Given the description of an element on the screen output the (x, y) to click on. 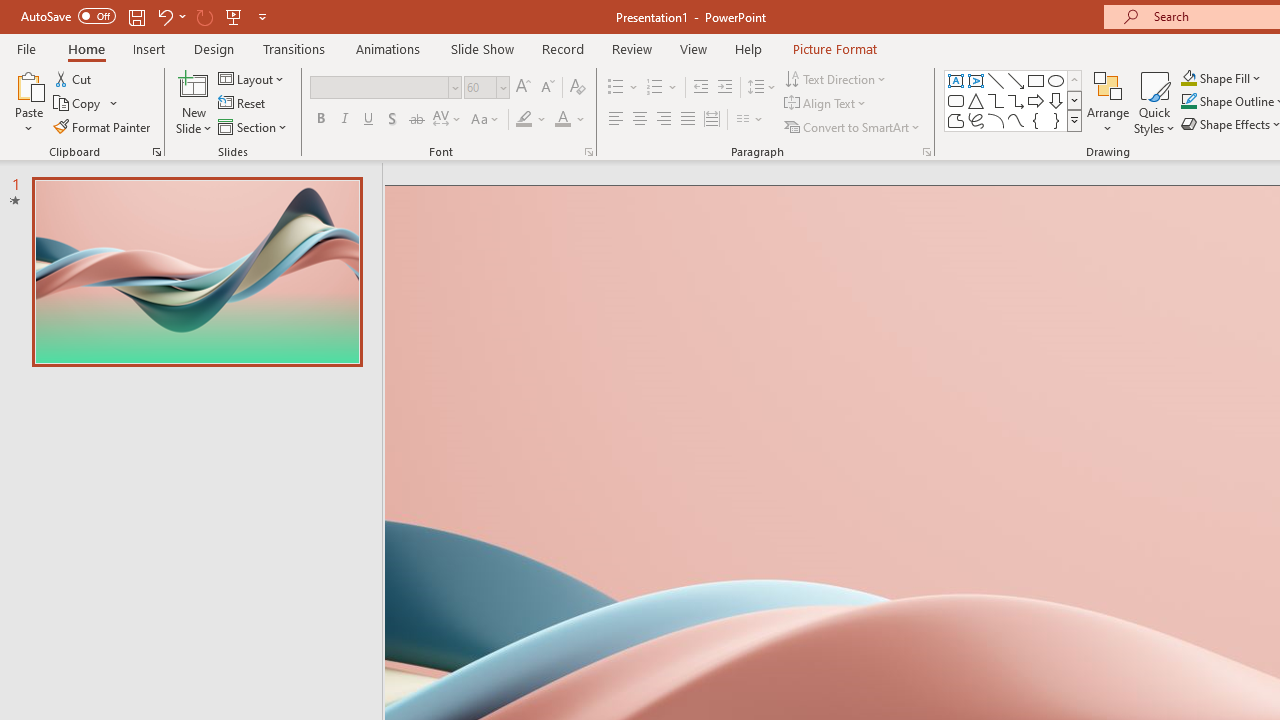
Shape Fill Orange, Accent 2 (1188, 78)
